Given the description of an element on the screen output the (x, y) to click on. 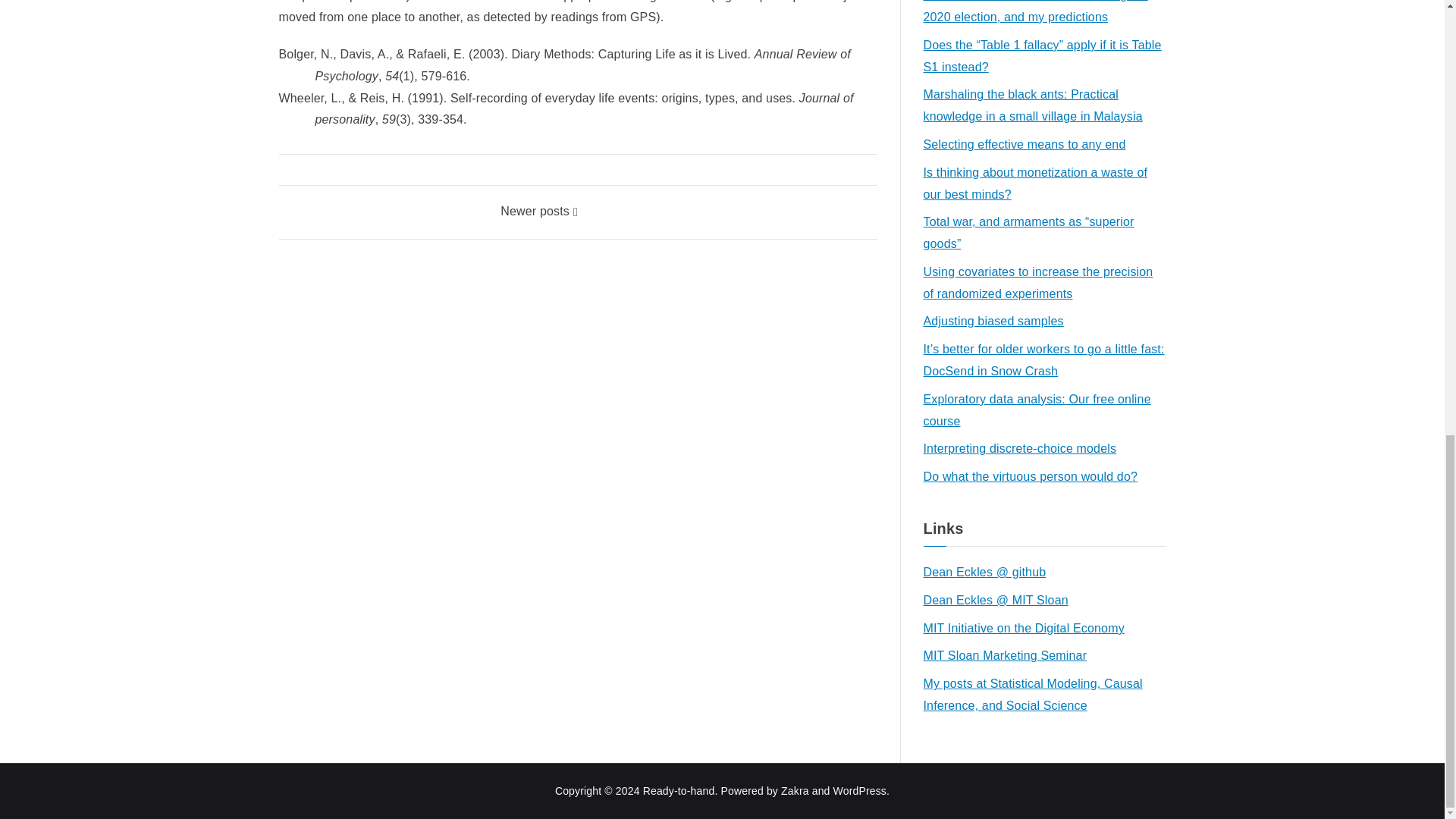
Do what the virtuous person would do? (1030, 477)
Newer posts (539, 210)
Adjusting biased samples (993, 321)
Zakra (794, 790)
Exploratory data analysis: Our free online course (1044, 411)
WordPress (859, 790)
Is thinking about monetization a waste of our best minds? (1044, 184)
Selecting effective means to any end (1024, 145)
Ready-to-hand (678, 790)
Interpreting discrete-choice models (1019, 449)
